Given the description of an element on the screen output the (x, y) to click on. 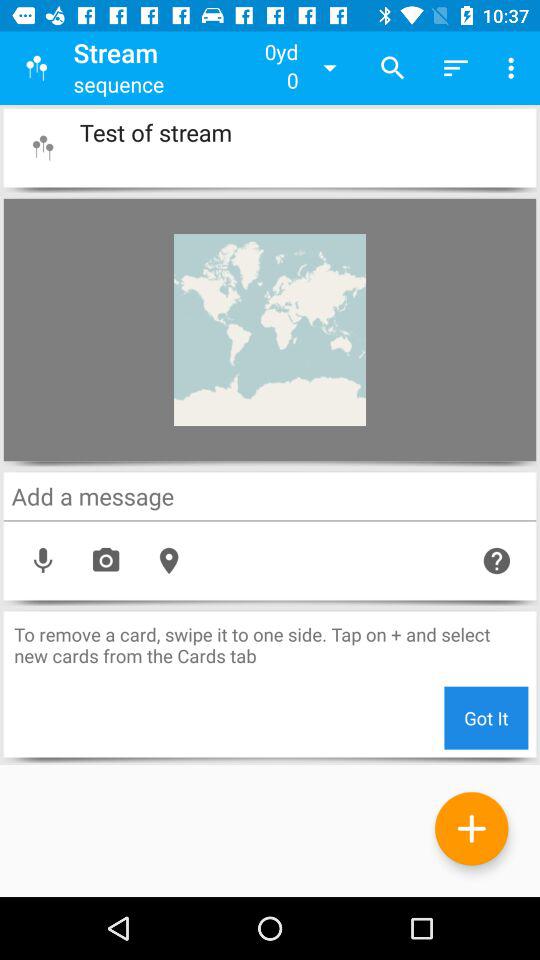
select the button (42, 147)
